Given the description of an element on the screen output the (x, y) to click on. 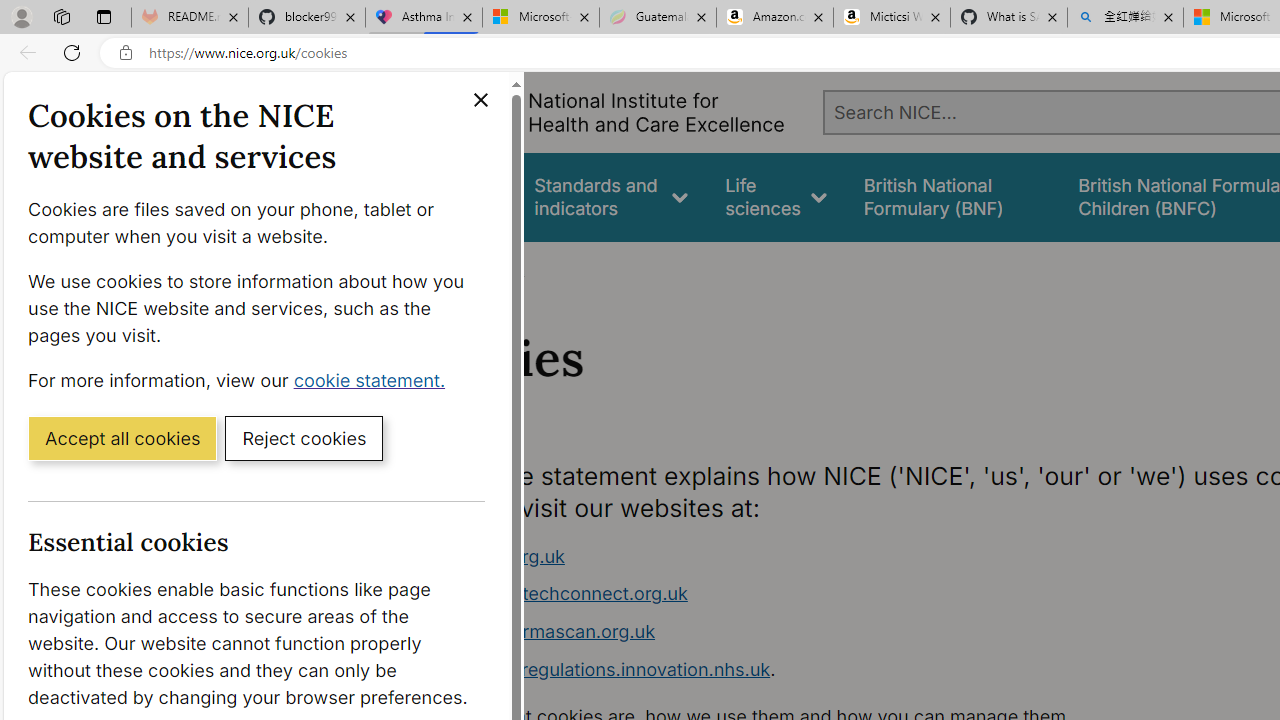
cookie statement. (Opens in a new window) (373, 379)
www.healthtechconnect.org.uk (554, 593)
www.digitalregulations.innovation.nhs.uk (595, 668)
Home> (433, 268)
www.ukpharmascan.org.uk (538, 631)
false (952, 196)
Accept all cookies (122, 437)
